Given the description of an element on the screen output the (x, y) to click on. 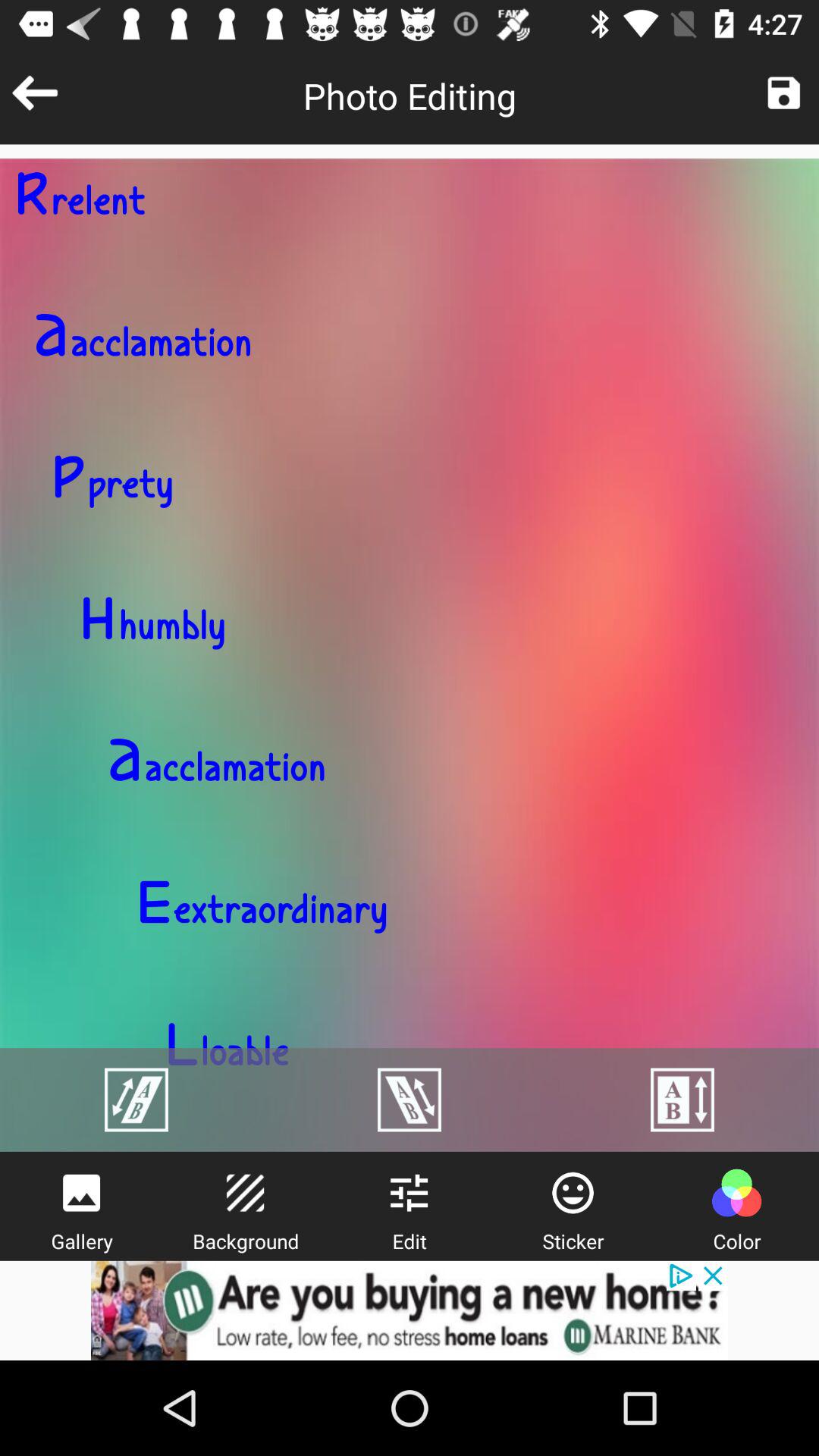
align words diagonally (409, 1099)
